Given the description of an element on the screen output the (x, y) to click on. 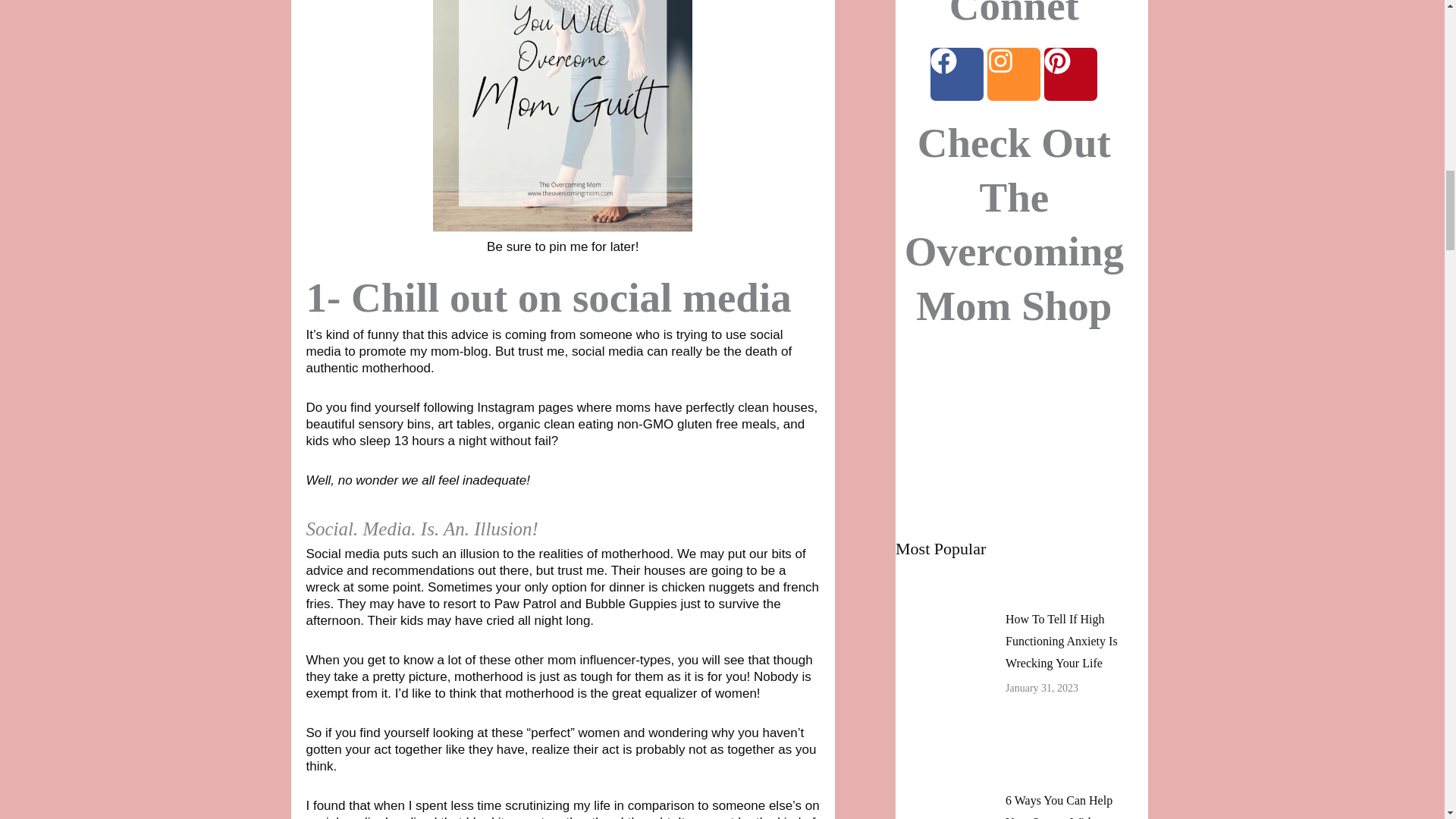
Pinterest (1070, 73)
Facebook (957, 73)
Instagram (1014, 73)
